Given the description of an element on the screen output the (x, y) to click on. 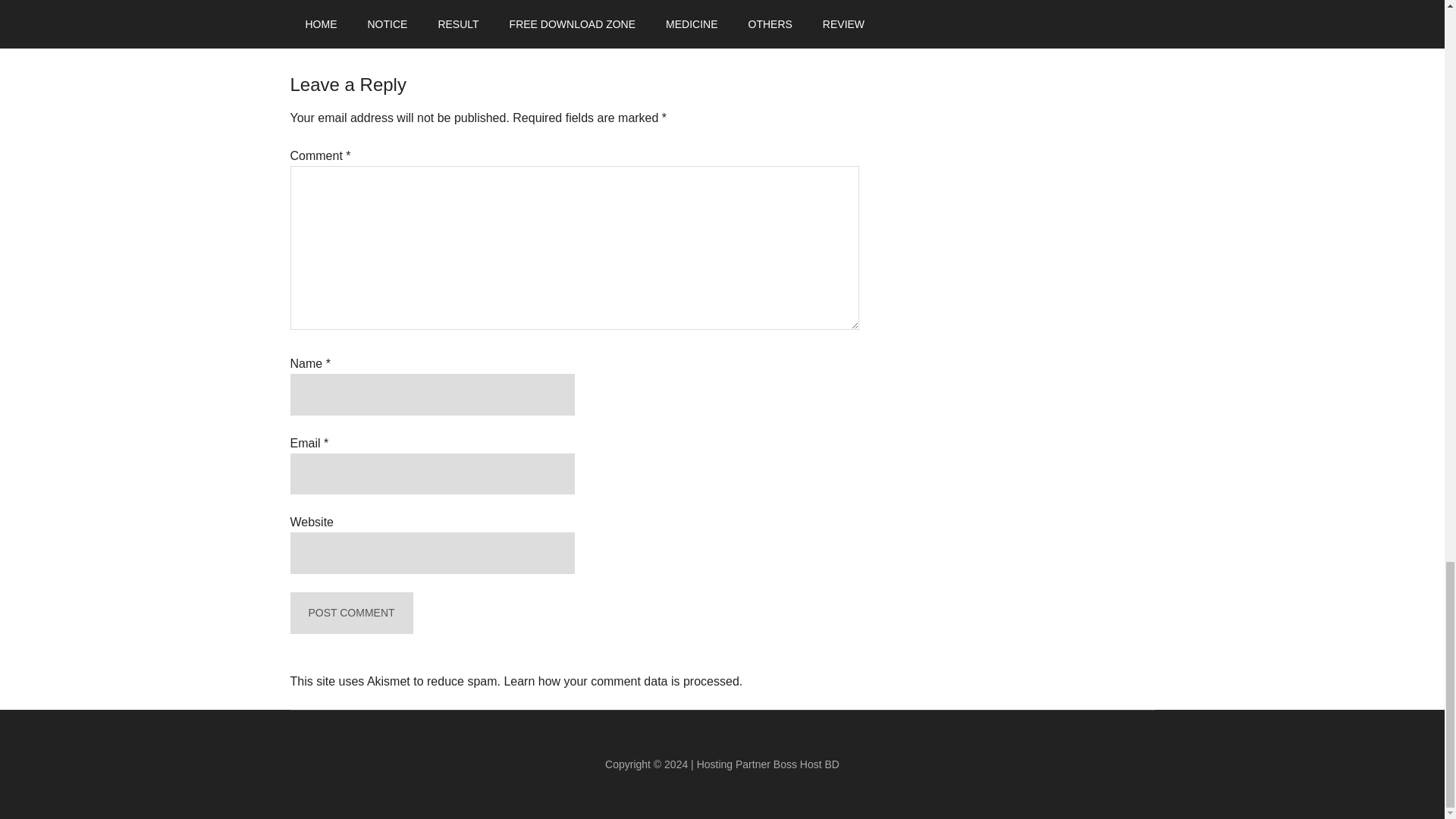
Post Comment (350, 612)
